Given the description of an element on the screen output the (x, y) to click on. 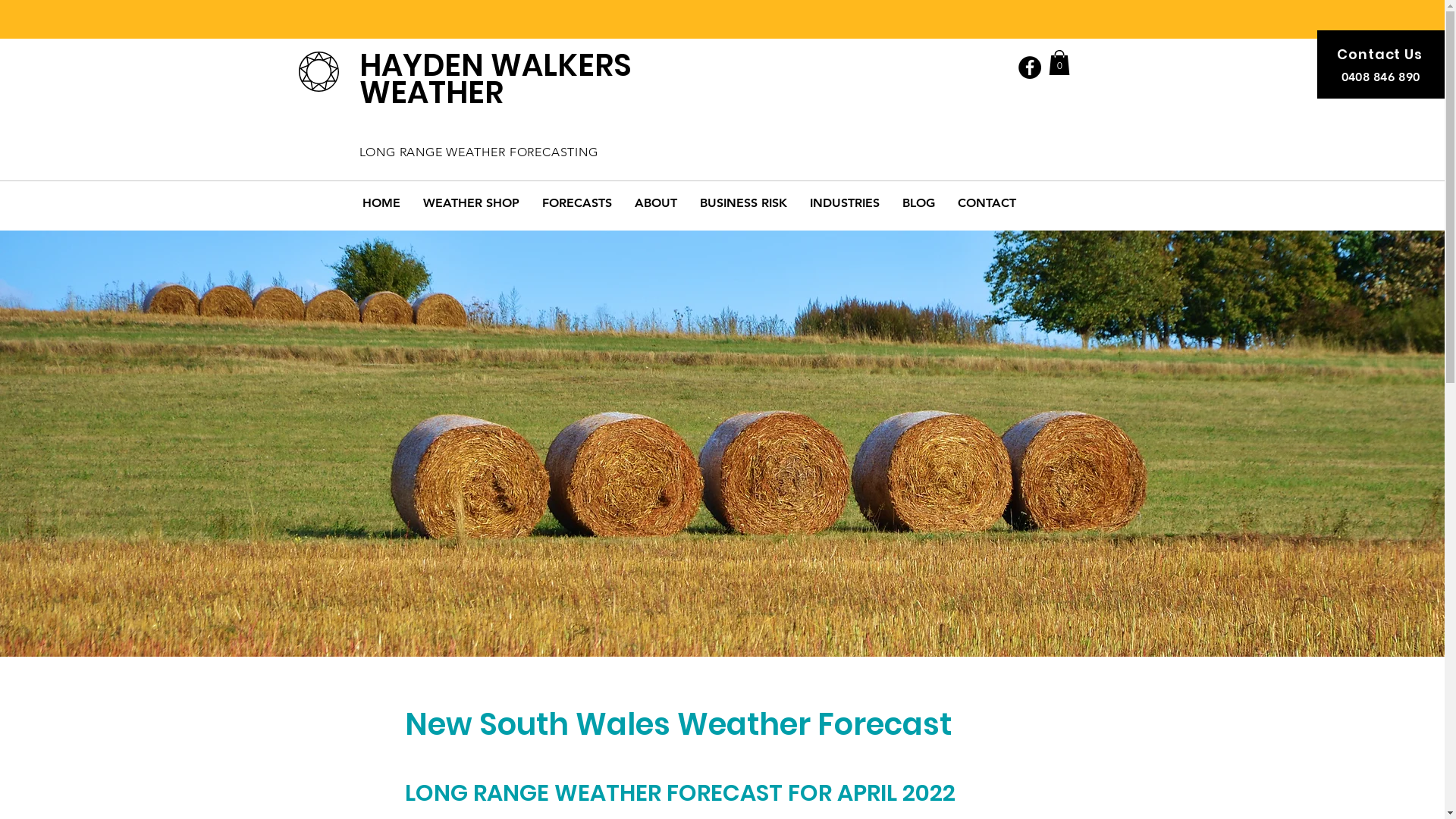
ABOUT Element type: text (655, 202)
FORECASTS Element type: text (576, 202)
HAYDEN WALKERS WEATHER Element type: text (495, 78)
HOME Element type: text (380, 202)
LONG RANGE WEATHER FORECASTING Element type: text (478, 151)
CONTACT Element type: text (986, 202)
WEATHER SHOP Element type: text (470, 202)
Contact Us Element type: text (1379, 53)
BLOG Element type: text (917, 202)
BUSINESS RISK Element type: text (743, 202)
INDUSTRIES Element type: text (843, 202)
0 Element type: text (1058, 62)
